Given the description of an element on the screen output the (x, y) to click on. 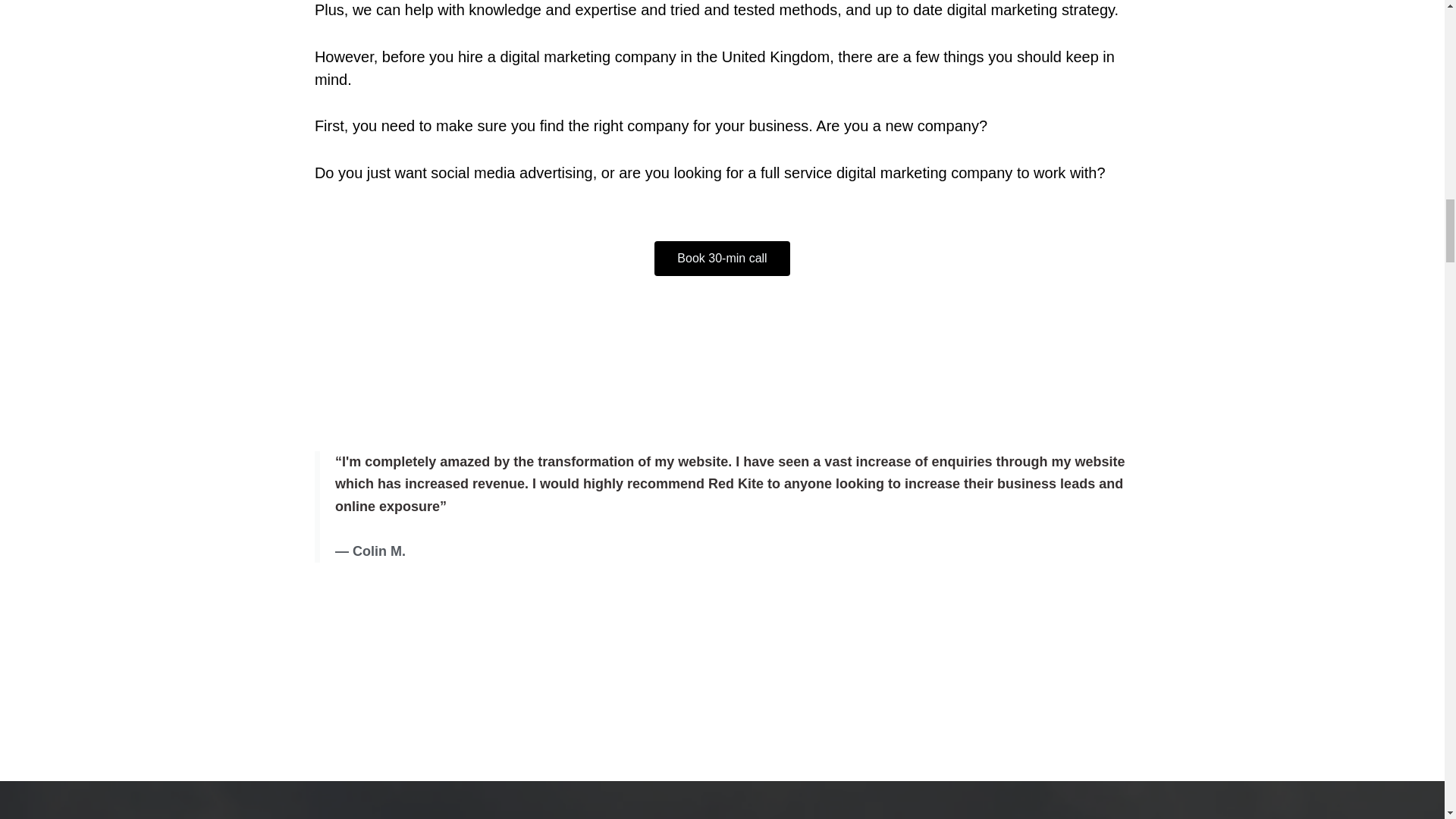
Book 30-min call (721, 258)
